Given the description of an element on the screen output the (x, y) to click on. 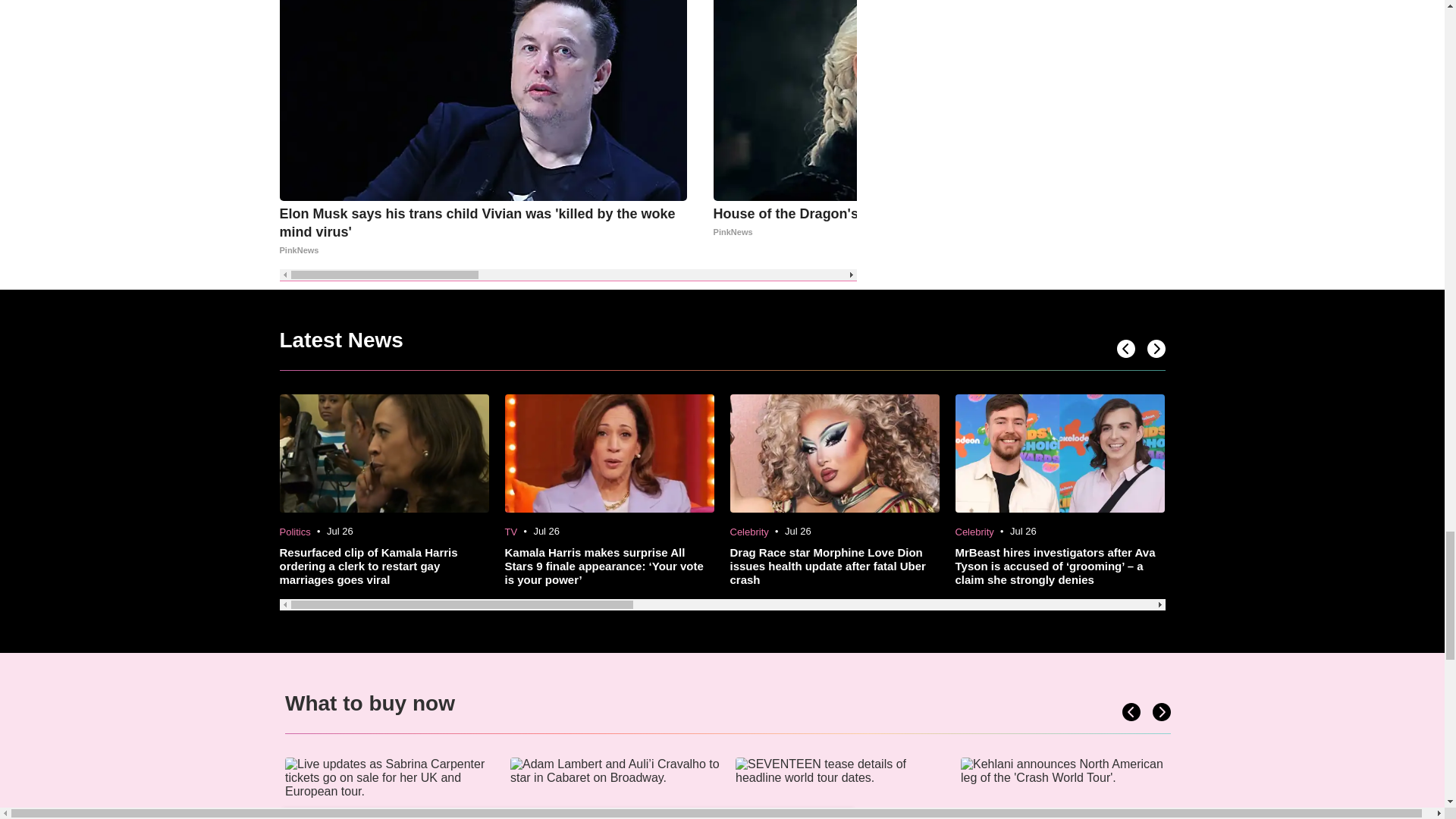
House of the Dragon's steamy same-sex kiss wasn't scripted (917, 222)
